Given the description of an element on the screen output the (x, y) to click on. 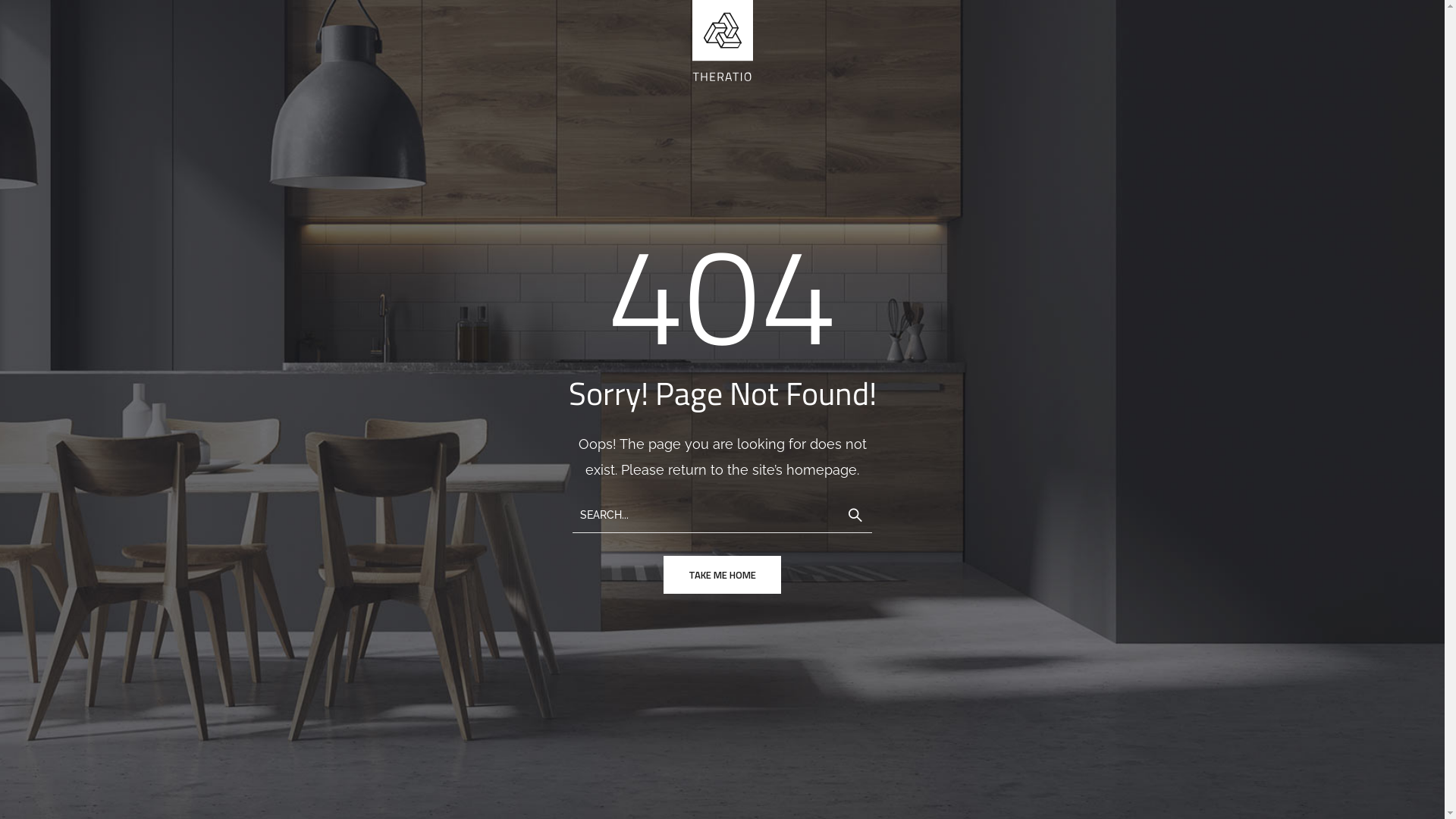
TAKE ME HOME Element type: text (722, 574)
